Given the description of an element on the screen output the (x, y) to click on. 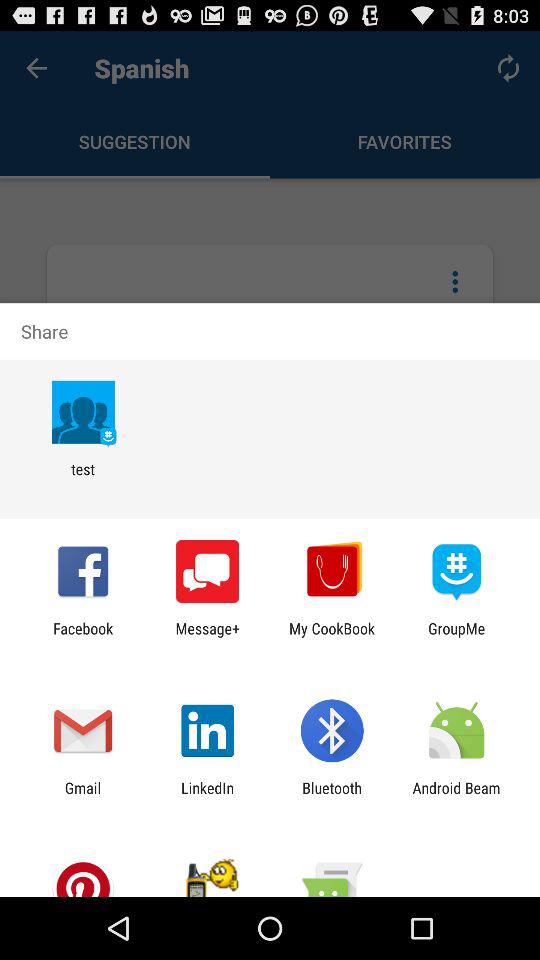
jump to the test (82, 478)
